Given the description of an element on the screen output the (x, y) to click on. 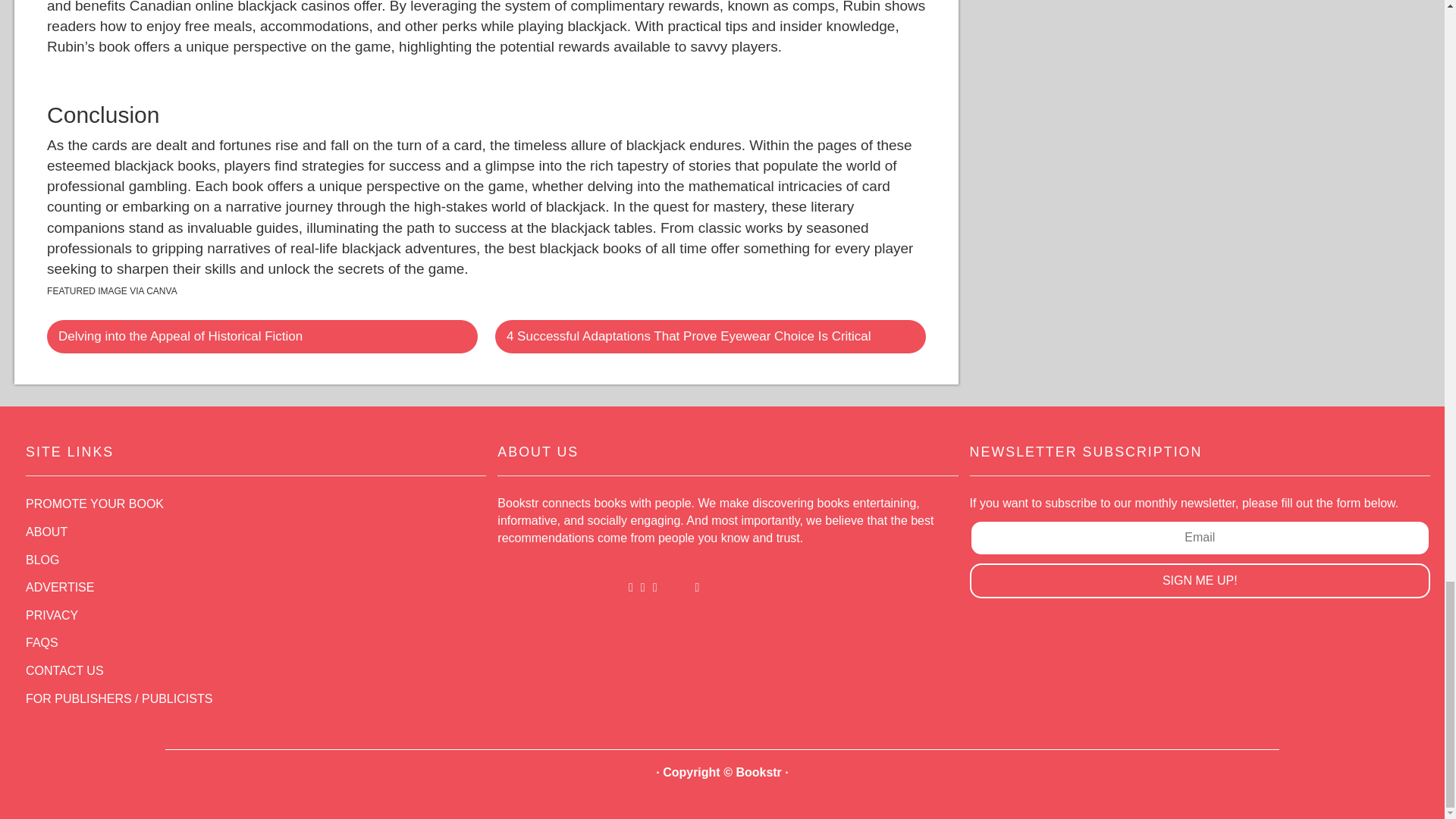
SIGN ME UP! (1199, 580)
Facebook (630, 587)
Twitter (643, 587)
Instagram (655, 587)
